Given the description of an element on the screen output the (x, y) to click on. 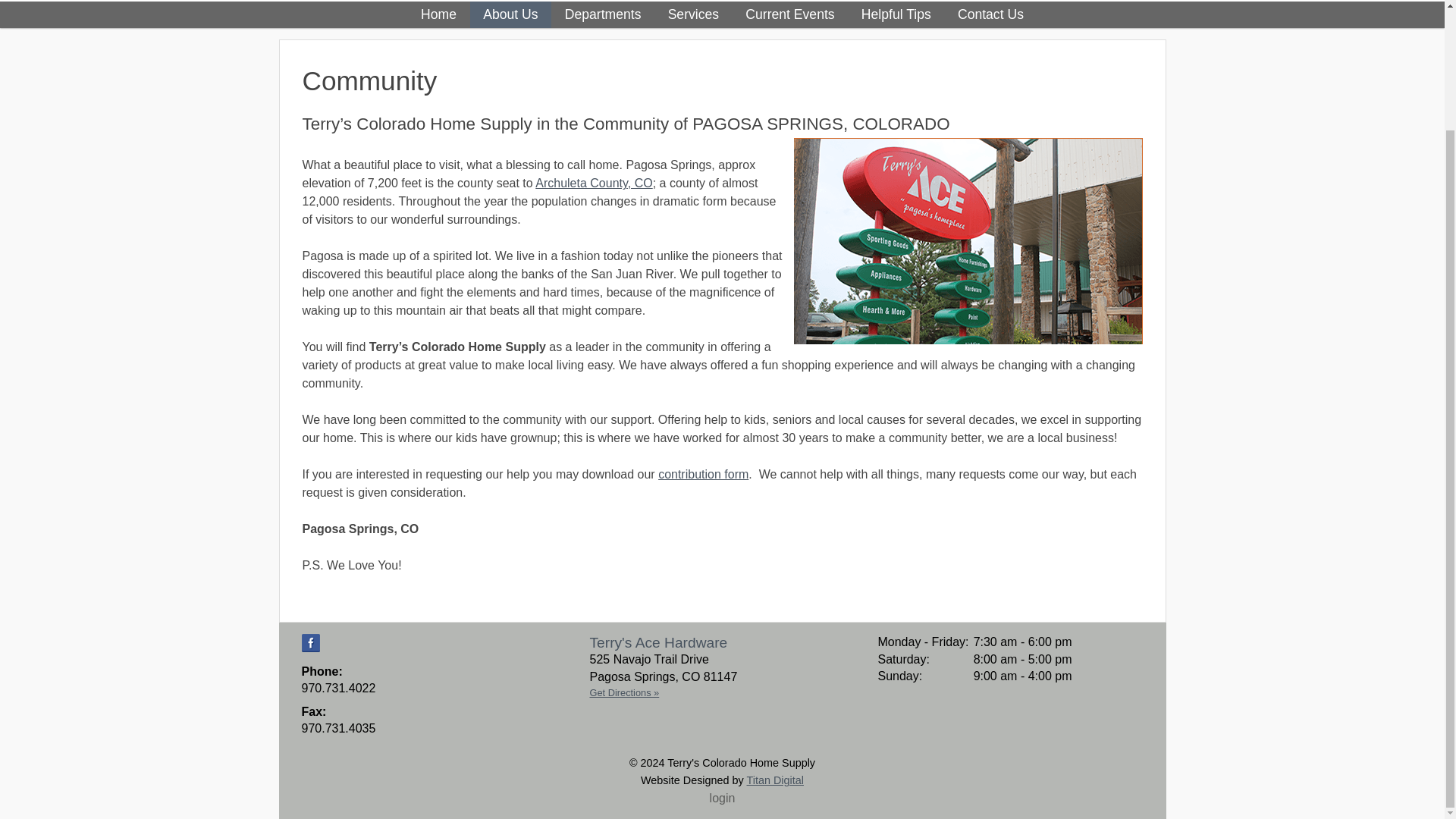
View our Facebook Page (310, 642)
View our Facebook Page (310, 642)
About Us (510, 14)
contribution form (703, 473)
Current Events (790, 14)
Helpful Tips (895, 14)
Terry's Ace Hardware (662, 642)
Archuleta County, CO (593, 182)
Services (692, 14)
Archuleta County - Wikipedia (593, 182)
Departments (602, 14)
Home (437, 14)
Contact Us (989, 14)
Titan Digital (774, 779)
